Given the description of an element on the screen output the (x, y) to click on. 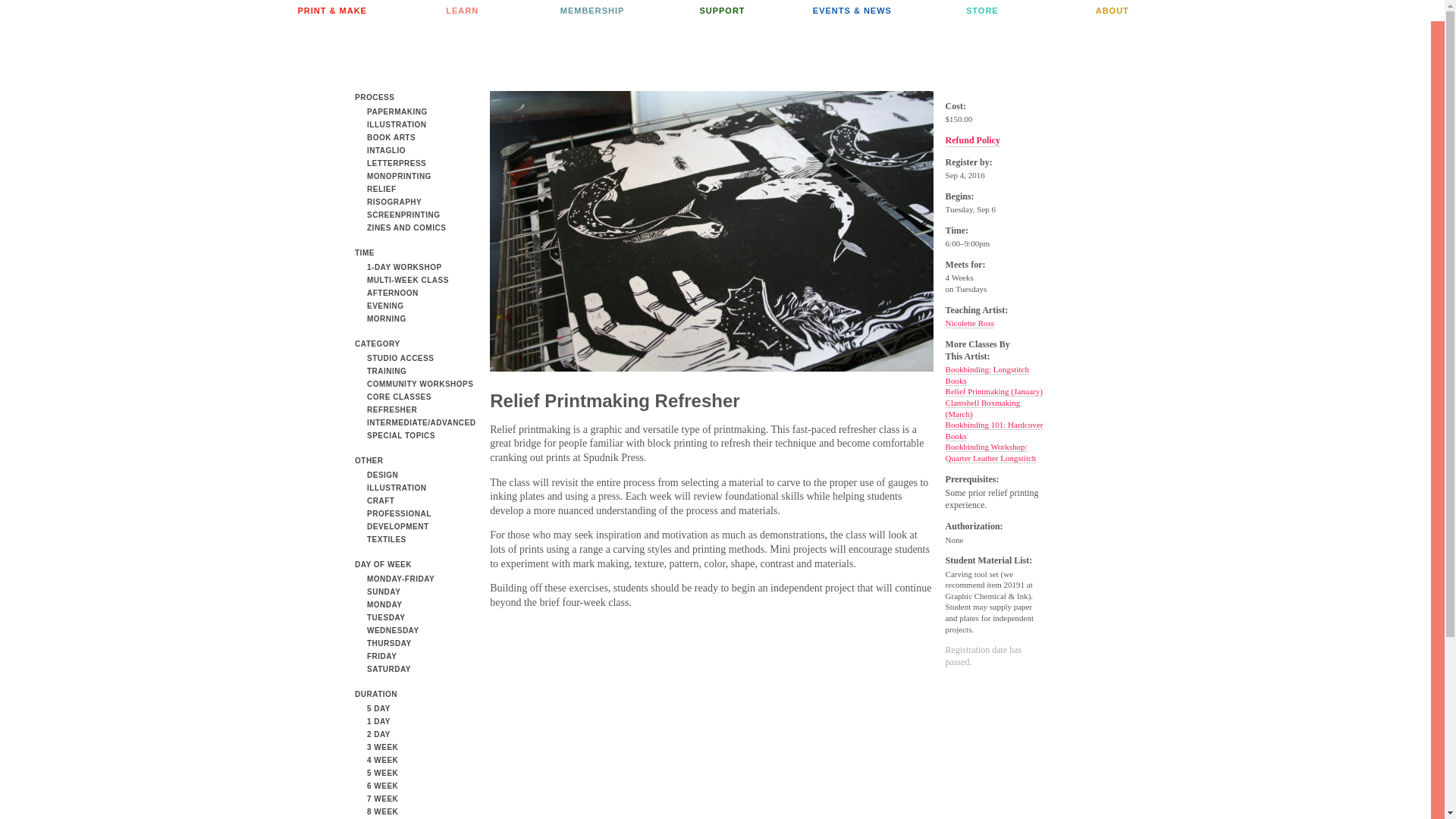
MEMBERSHIP (591, 10)
ILLUSTRATION (390, 124)
ABOUT (1111, 10)
PAPERMAKING (391, 111)
STORE (981, 10)
SUPPORT (722, 10)
LEARN (462, 10)
PROCESS (374, 97)
Spudnik Press (714, 56)
